Given the description of an element on the screen output the (x, y) to click on. 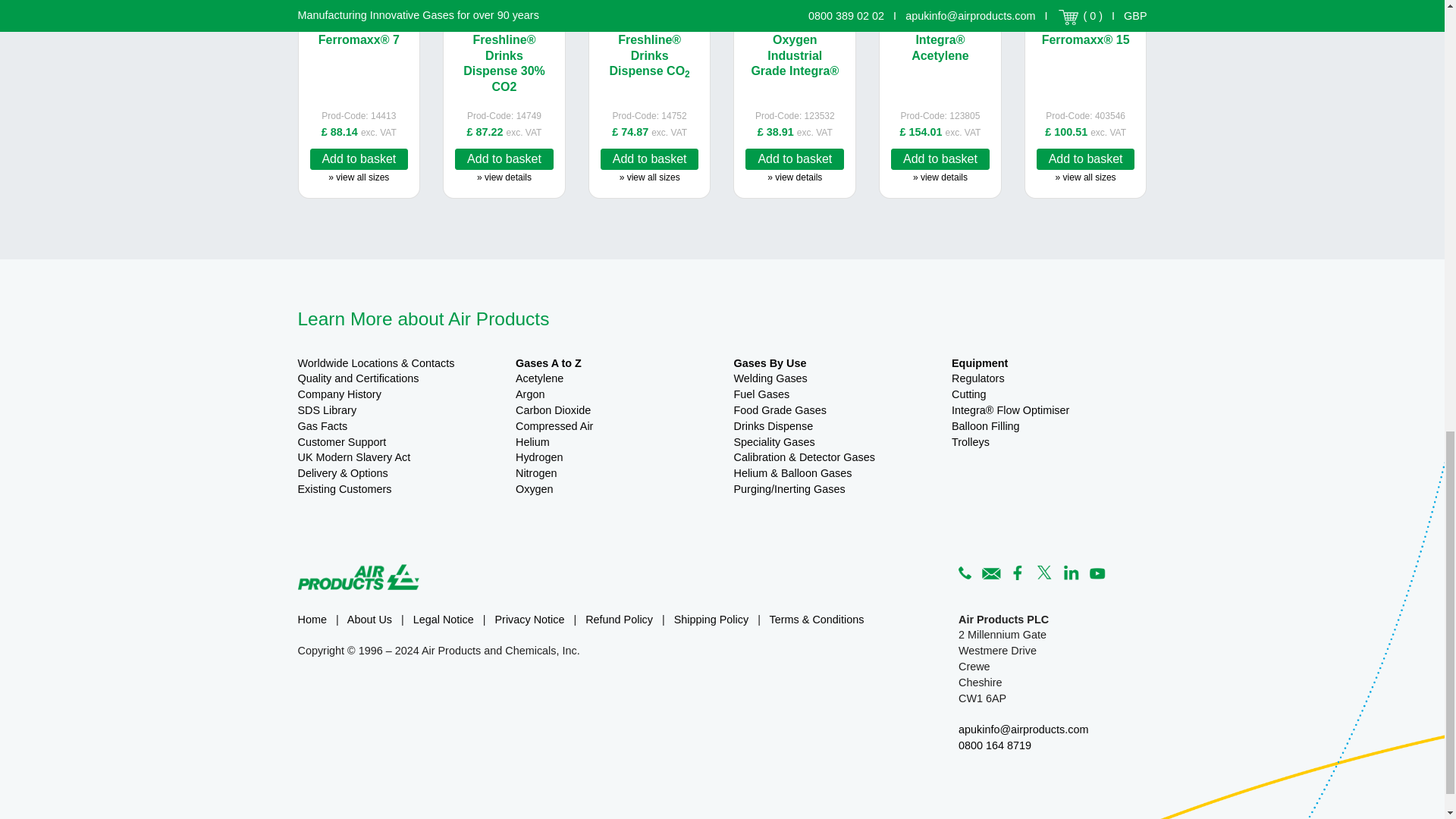
Watch Air Products Videos (1097, 569)
Call Us (965, 569)
Air Products on facebook (1017, 569)
Contact Us (991, 569)
Air Products (358, 576)
